Given the description of an element on the screen output the (x, y) to click on. 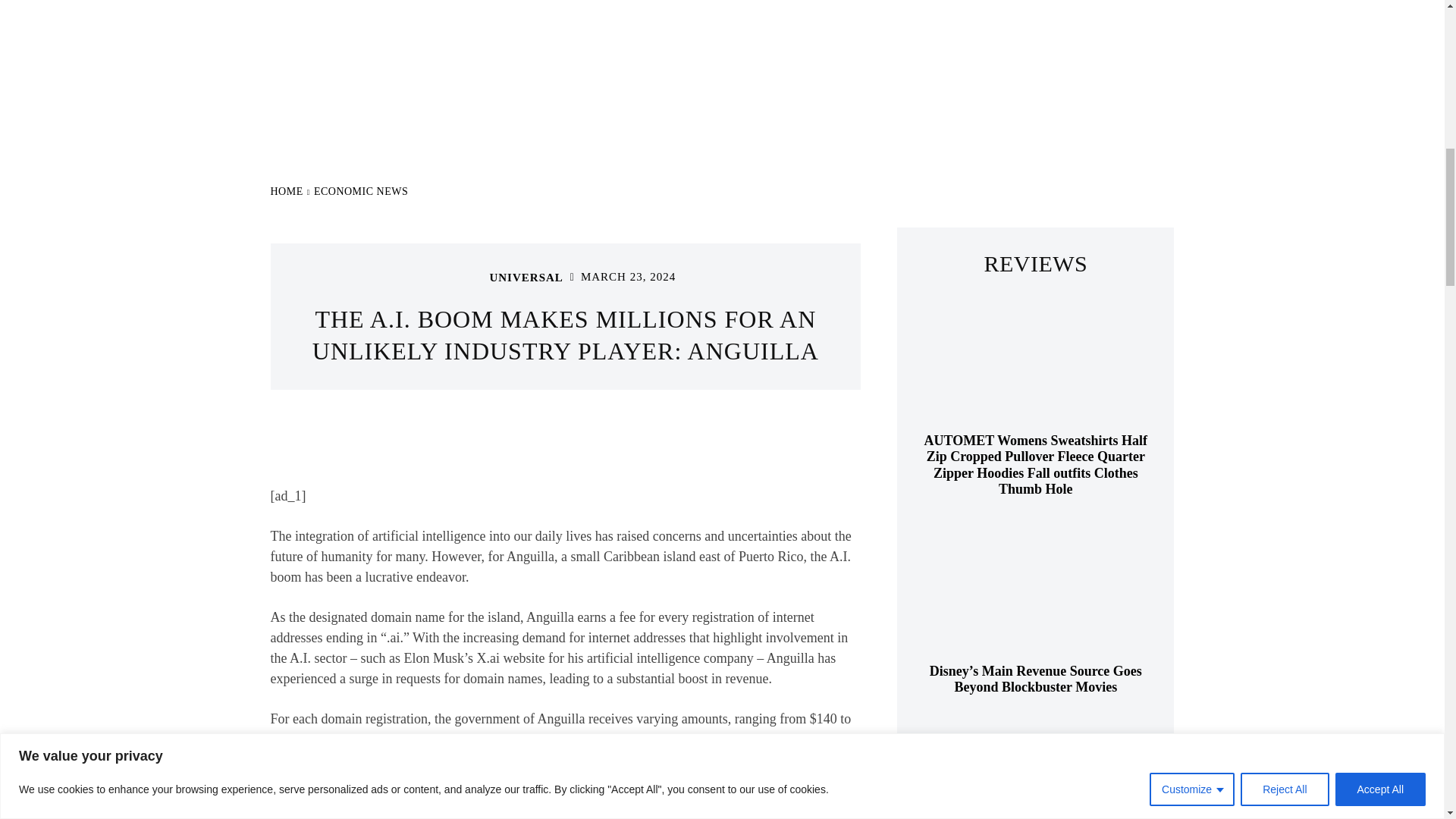
View all posts in Economic news (360, 191)
universal (469, 277)
